Given the description of an element on the screen output the (x, y) to click on. 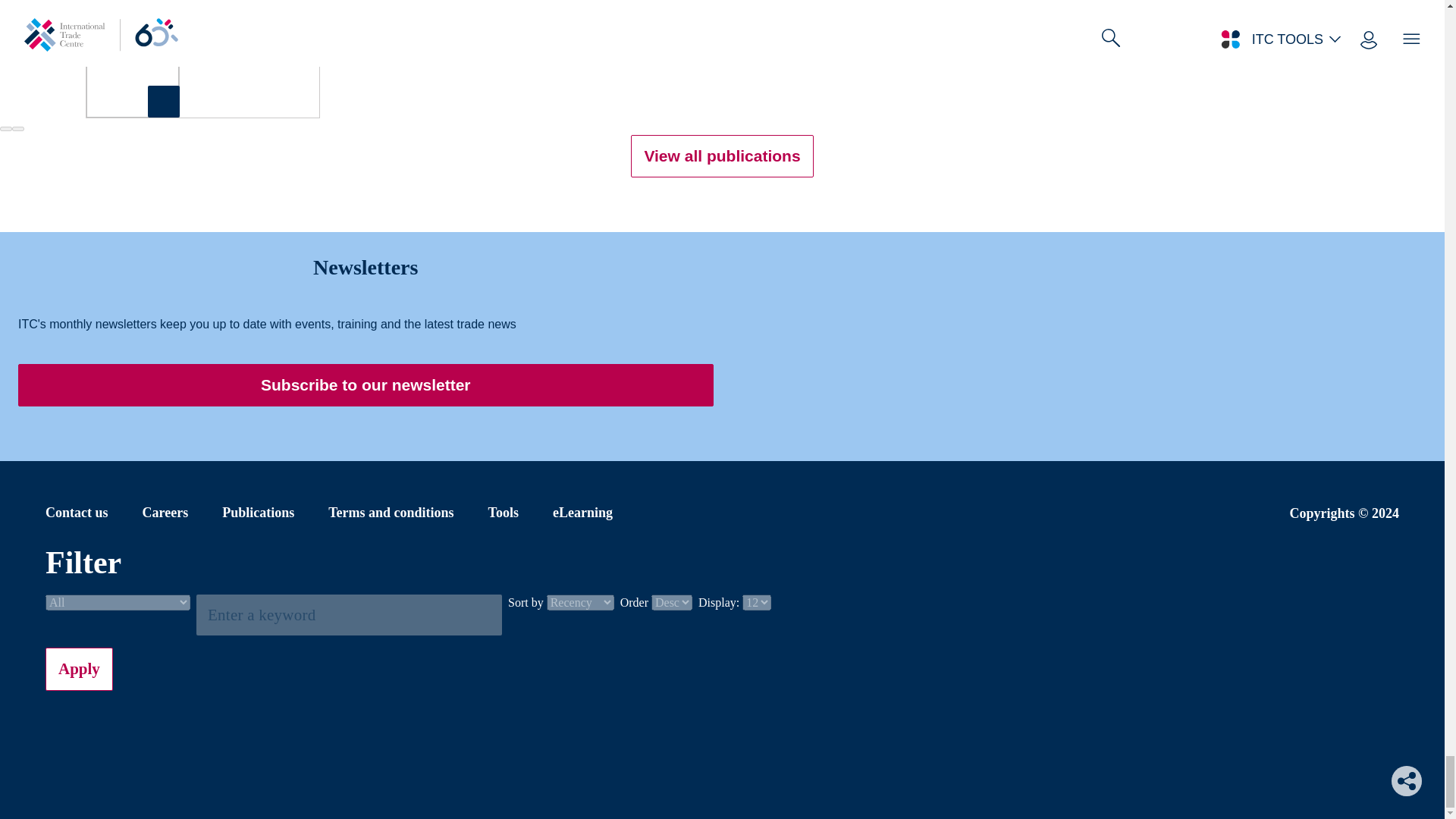
More info (561, 23)
REJECT (1057, 14)
ACCEPT (1168, 14)
